Given the description of an element on the screen output the (x, y) to click on. 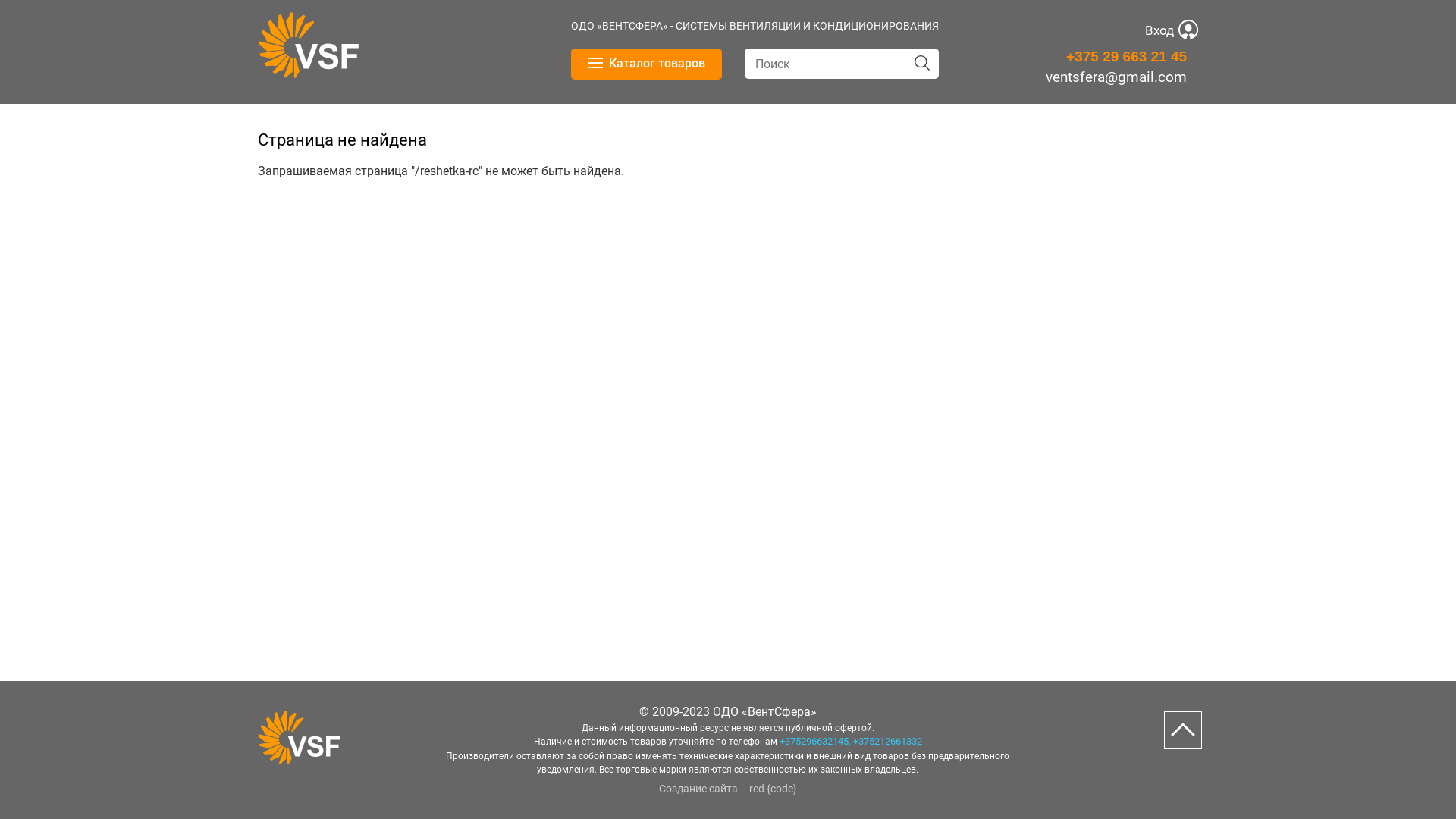
ventsfera@gmail.com Element type: text (1115, 76)
+375 29 663 21 45 Element type: text (1126, 56)
+375296632145, Element type: text (814, 740)
+375212661332 Element type: text (887, 740)
